Given the description of an element on the screen output the (x, y) to click on. 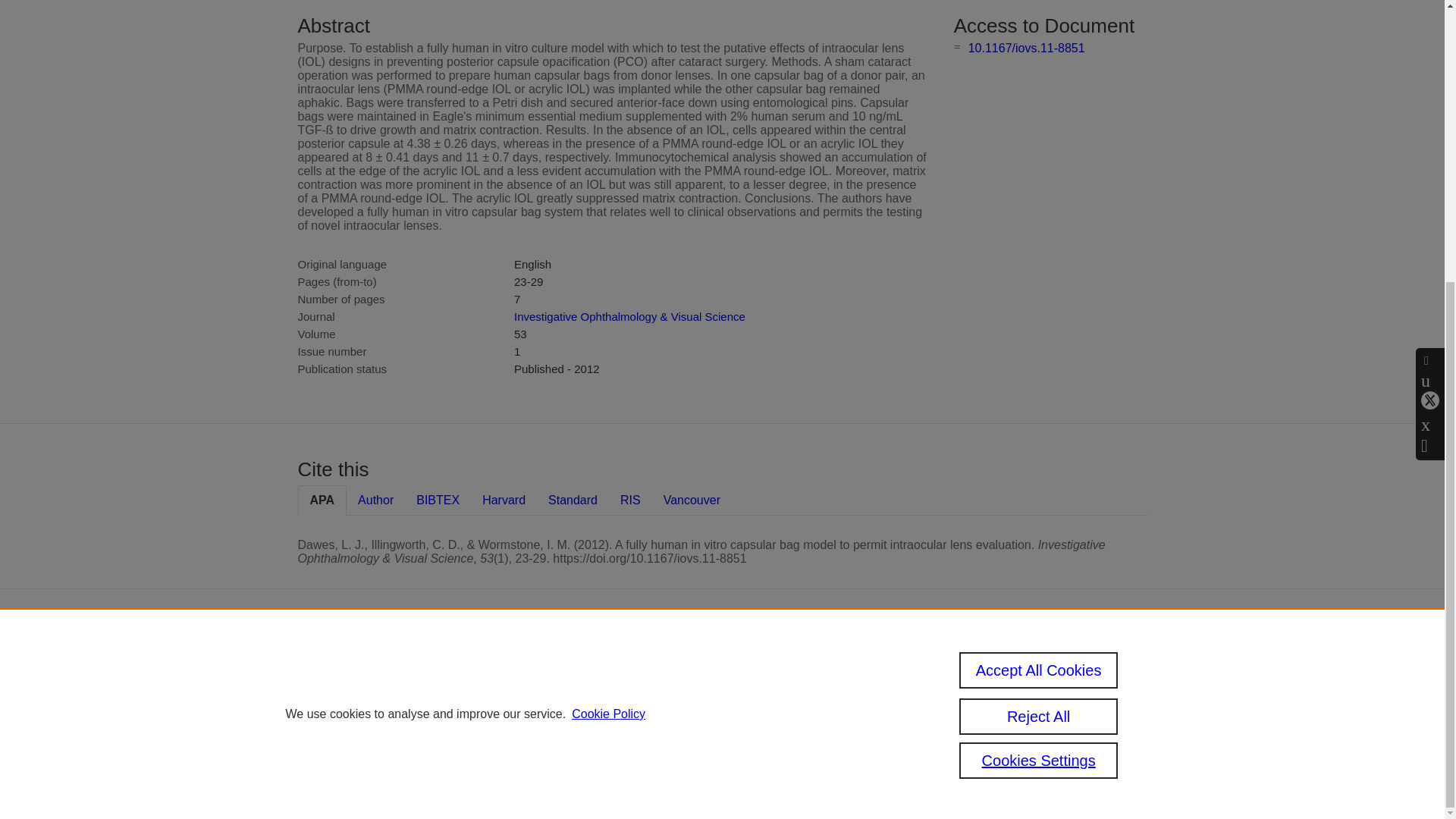
Pure (620, 664)
Cookies Settings (591, 760)
Log in to Pure (584, 780)
Elsevier B.V. (764, 685)
Report vulnerability (1021, 739)
Contact us (1125, 670)
Scopus (652, 664)
University of East Anglia data protection policy (1027, 675)
use of cookies (660, 739)
About web accessibility (1005, 712)
